Given the description of an element on the screen output the (x, y) to click on. 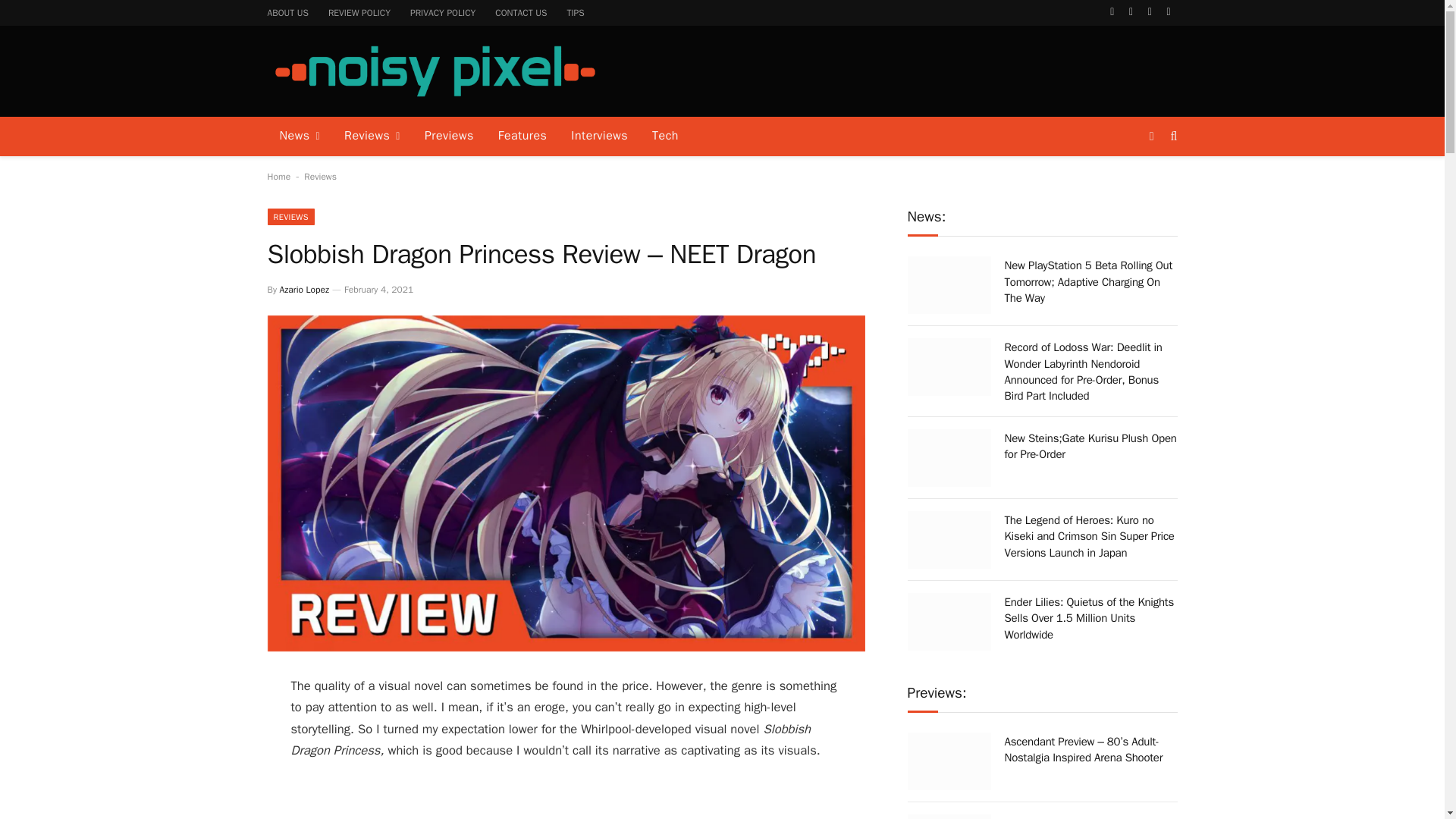
CONTACT US (520, 12)
Facebook (1112, 12)
REVIEW POLICY (359, 12)
Reviews (320, 176)
Search (1172, 136)
Interviews (599, 136)
Instagram (1149, 12)
Tech (665, 136)
YouTube (1168, 12)
Previews (449, 136)
Azario Lopez (304, 289)
News (298, 136)
REVIEWS (290, 216)
TIPS (575, 12)
Switch to Dark Design - easier on eyes. (1151, 136)
